Given the description of an element on the screen output the (x, y) to click on. 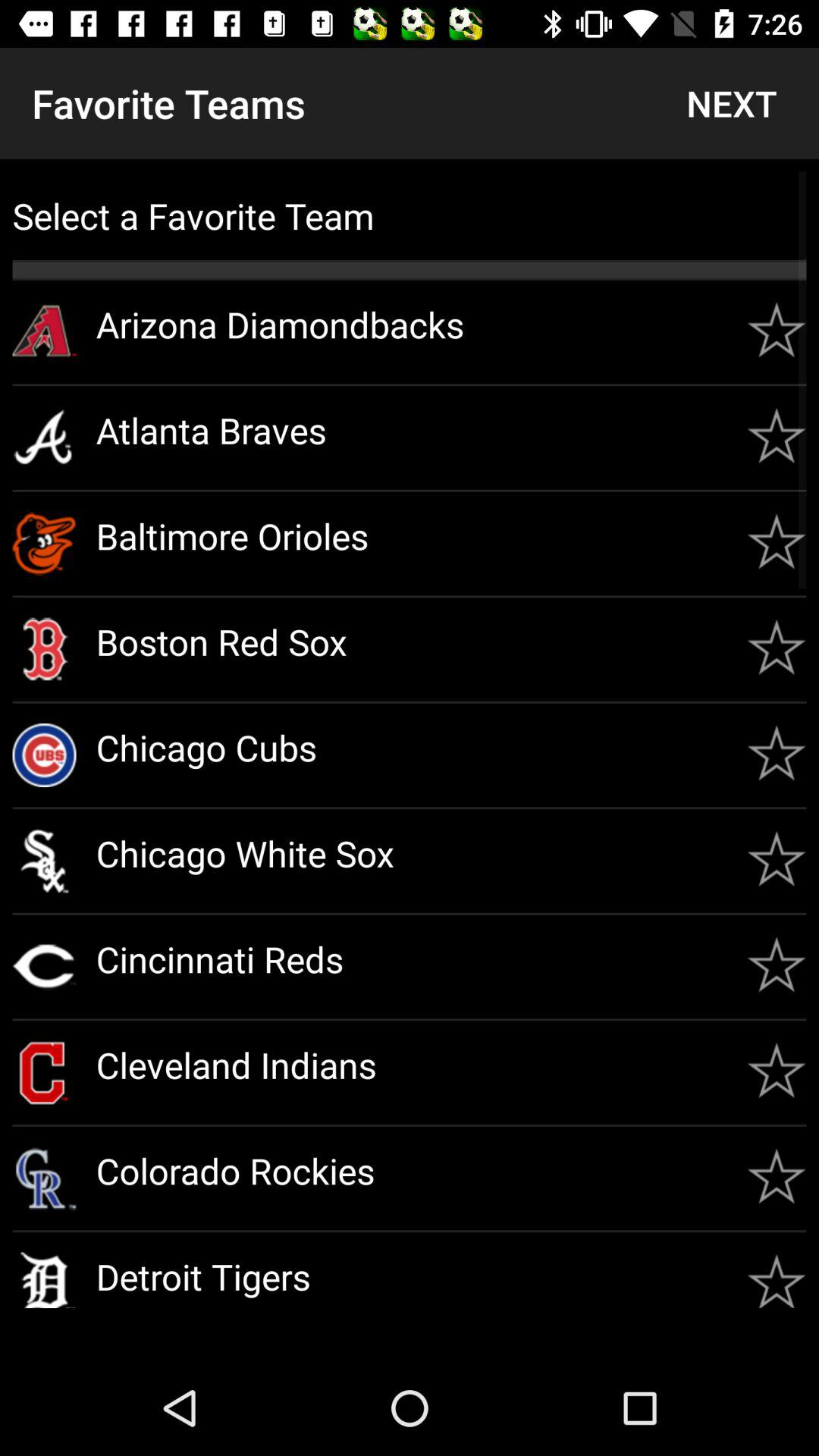
launch next item (731, 103)
